Given the description of an element on the screen output the (x, y) to click on. 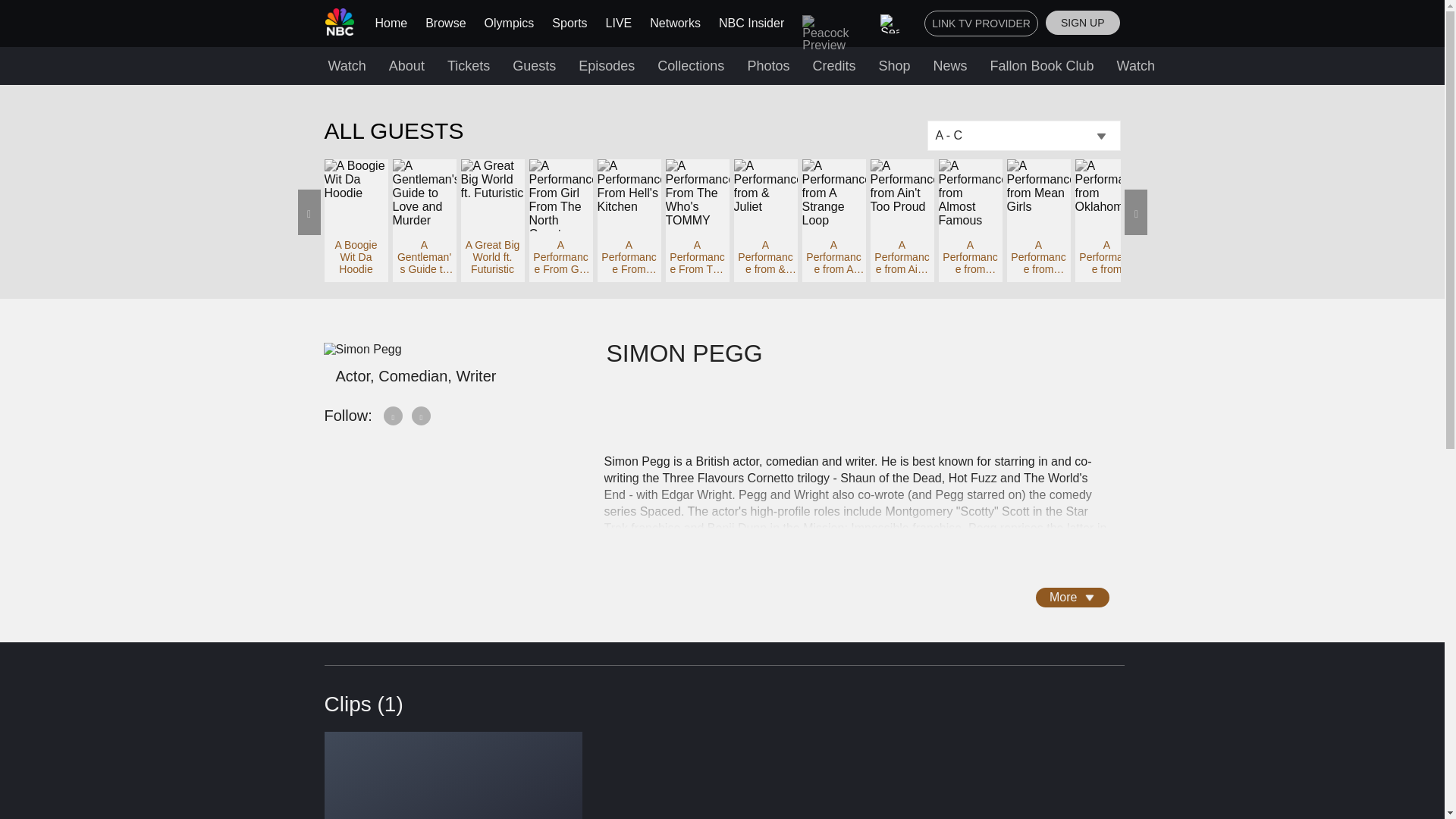
Sports (569, 23)
NBC Insider (751, 22)
Watch on Peacock (1173, 65)
Networks (675, 23)
Photos (767, 65)
NBC Insider (751, 23)
Credits (834, 65)
News (949, 65)
Guests (534, 65)
Facebook (393, 414)
Twitter (421, 414)
A - C (1022, 135)
LINK TV PROVIDER (981, 23)
About (406, 65)
